Given the description of an element on the screen output the (x, y) to click on. 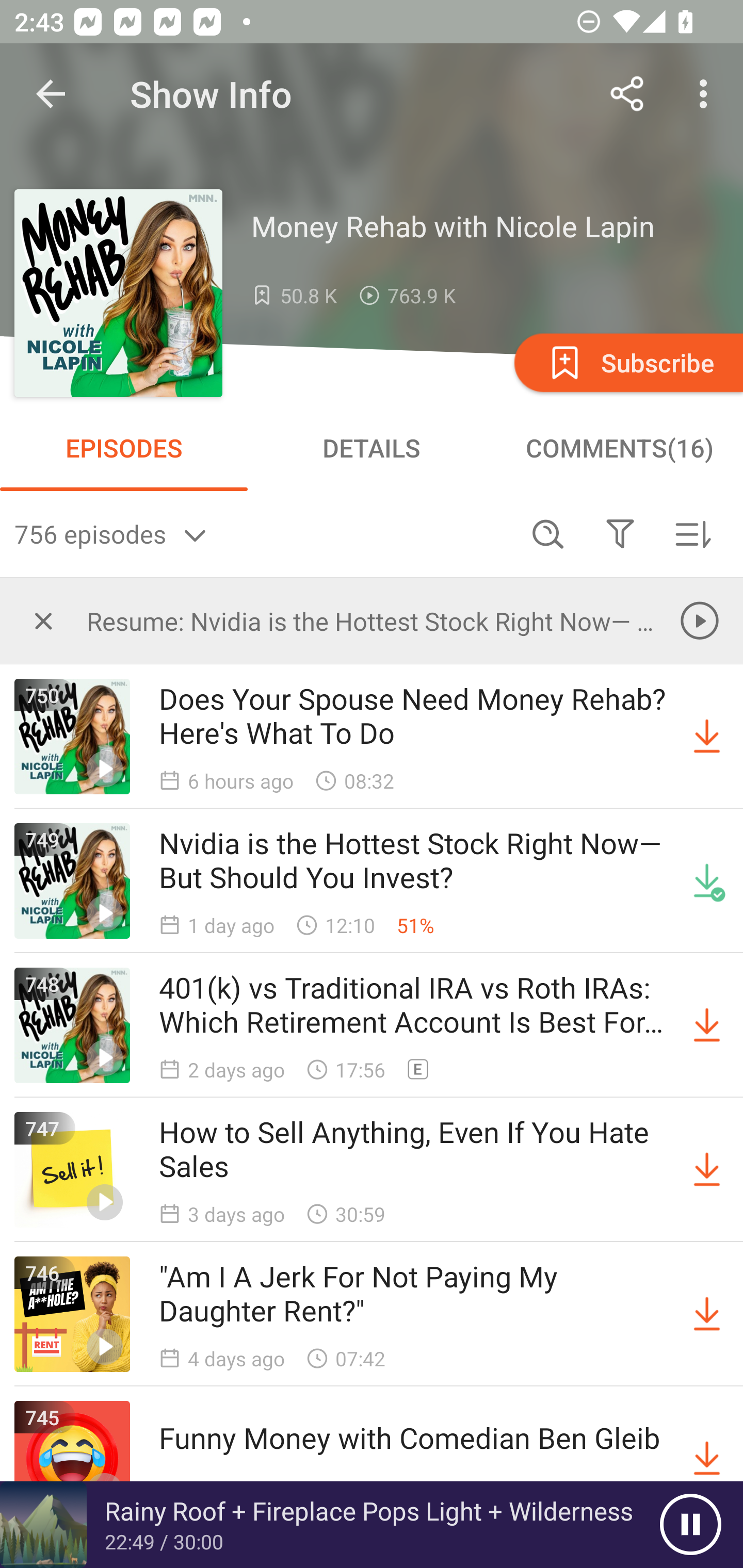
Navigate up (50, 93)
Share (626, 93)
More options (706, 93)
Subscribe (627, 361)
EPISODES (123, 447)
DETAILS (371, 447)
COMMENTS(16) (619, 447)
756 episodes  (262, 533)
 Search (547, 533)
 (619, 533)
 Sorted by newest first (692, 533)
 (43, 620)
Download (706, 736)
Downloaded (706, 881)
Download (706, 1025)
Download (706, 1169)
Download (706, 1313)
Download (706, 1458)
Pause (690, 1524)
